Given the description of an element on the screen output the (x, y) to click on. 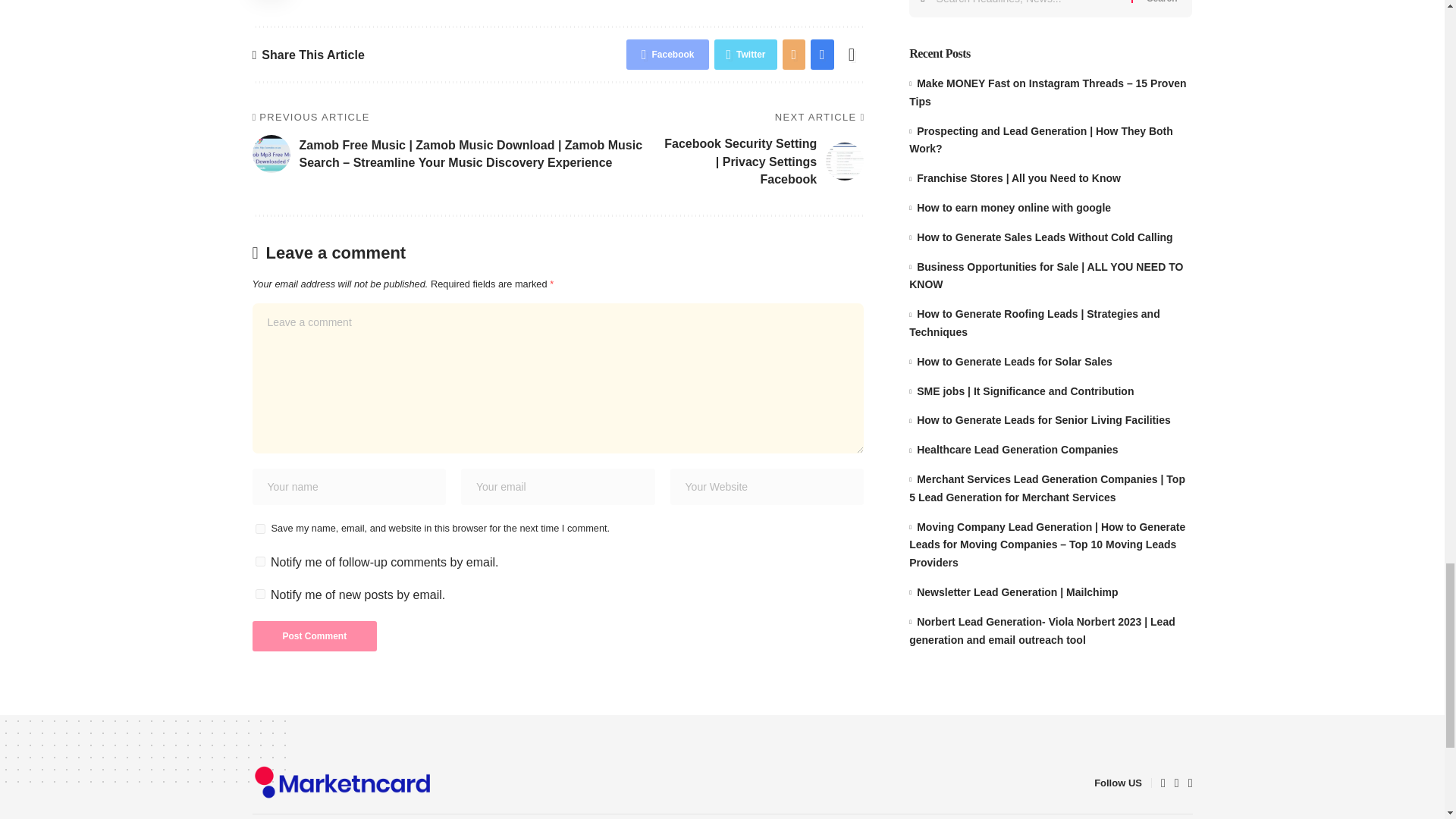
subscribe (259, 593)
Marketncard (341, 783)
subscribe (259, 561)
Post Comment (314, 635)
yes (259, 528)
